Given the description of an element on the screen output the (x, y) to click on. 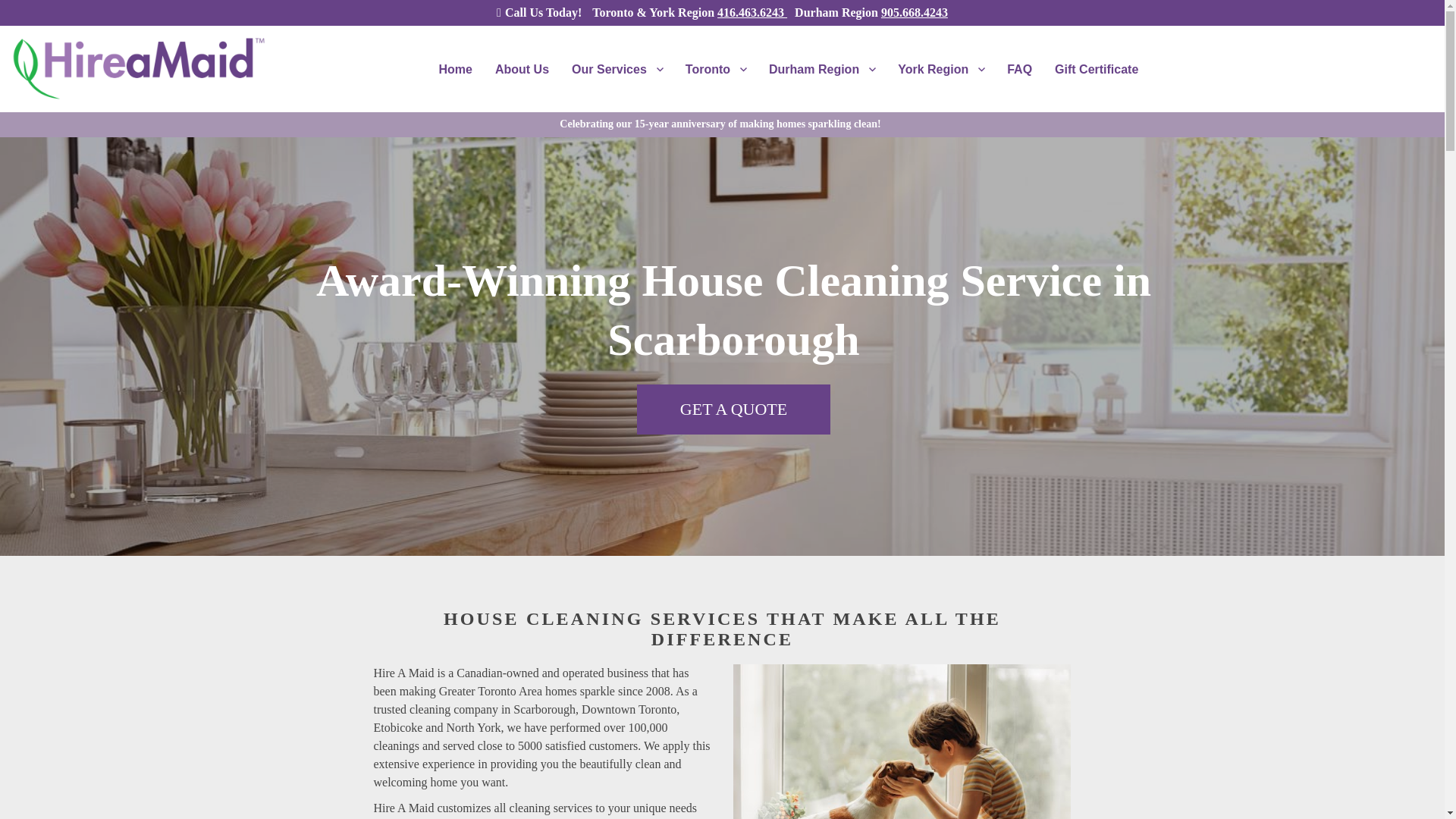
905.668.4243 (913, 11)
GET A QUOTE (733, 409)
416.463.6243 (752, 11)
Durham Region (821, 68)
About Us (521, 68)
Toronto (715, 68)
York Region (940, 68)
Gift Certificate (1096, 68)
Hire A Maid House Cleaning Services Inc. (141, 114)
Hire A Maid - cleaning services in Toronto and GTA (901, 741)
